Given the description of an element on the screen output the (x, y) to click on. 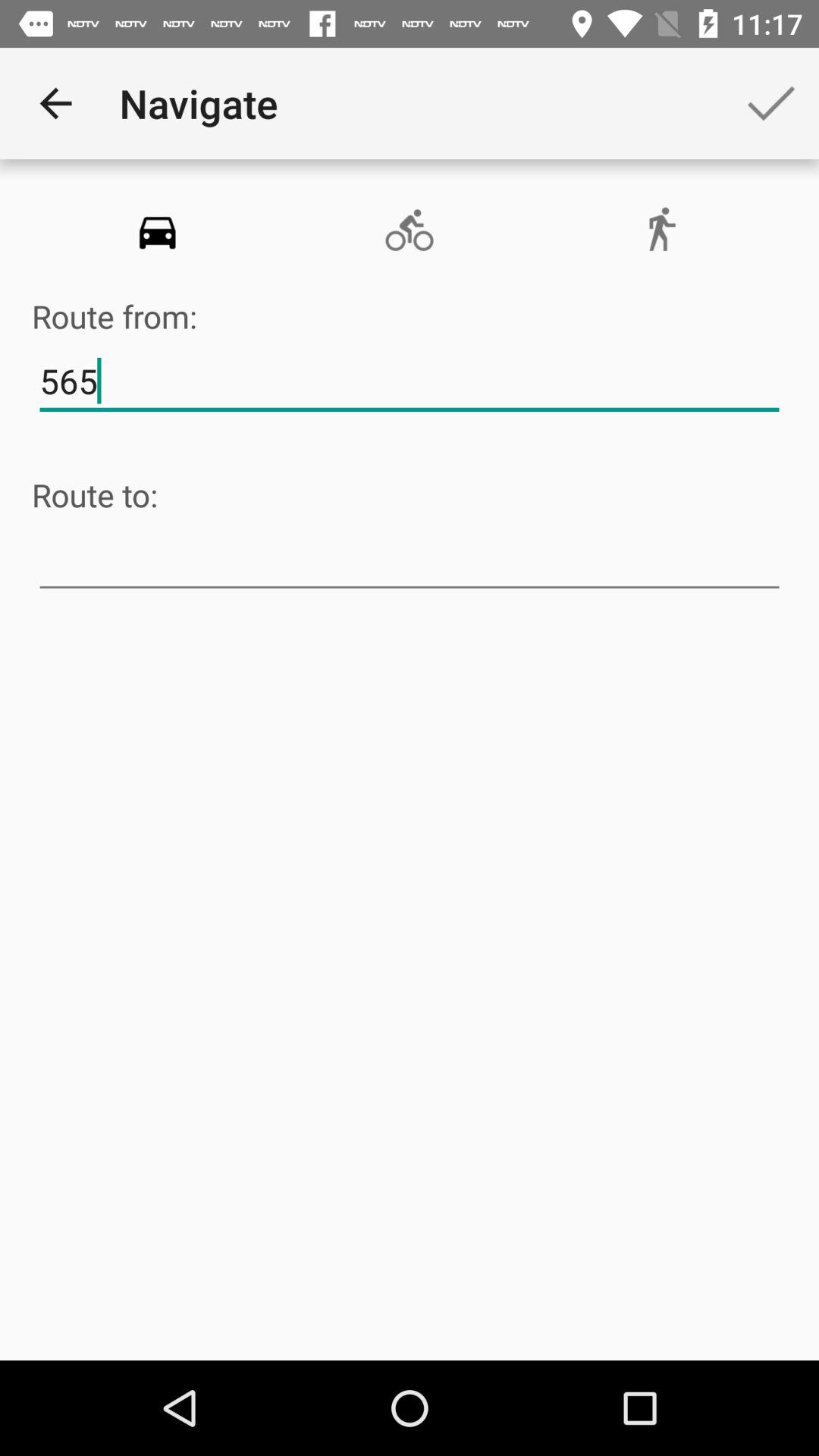
tap item at the center (409, 560)
